Given the description of an element on the screen output the (x, y) to click on. 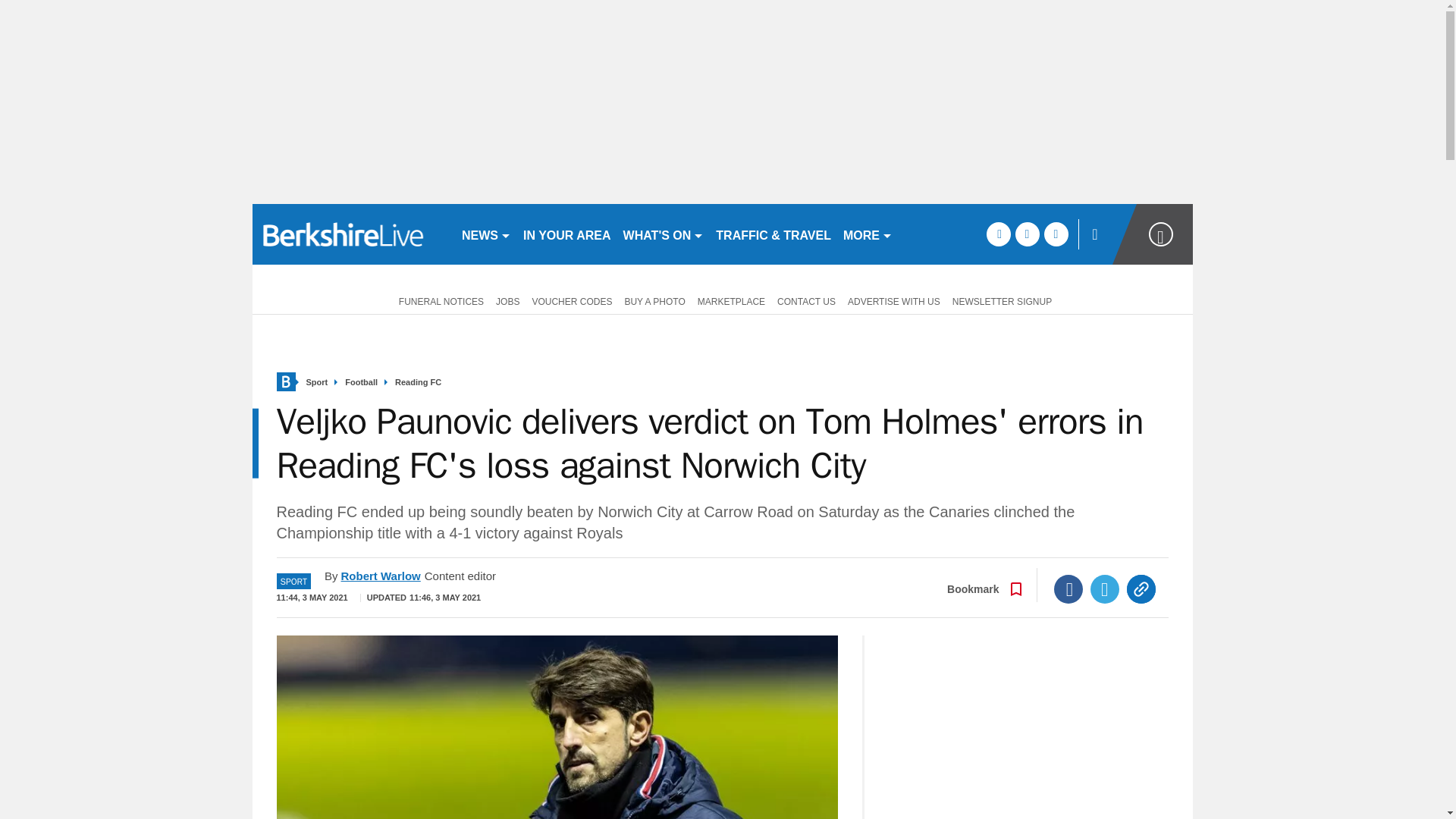
twitter (1026, 233)
Twitter (1104, 588)
getreading (349, 233)
MORE (867, 233)
IN YOUR AREA (566, 233)
facebook (997, 233)
instagram (1055, 233)
Facebook (1068, 588)
NEWS (485, 233)
WHAT'S ON (663, 233)
